Given the description of an element on the screen output the (x, y) to click on. 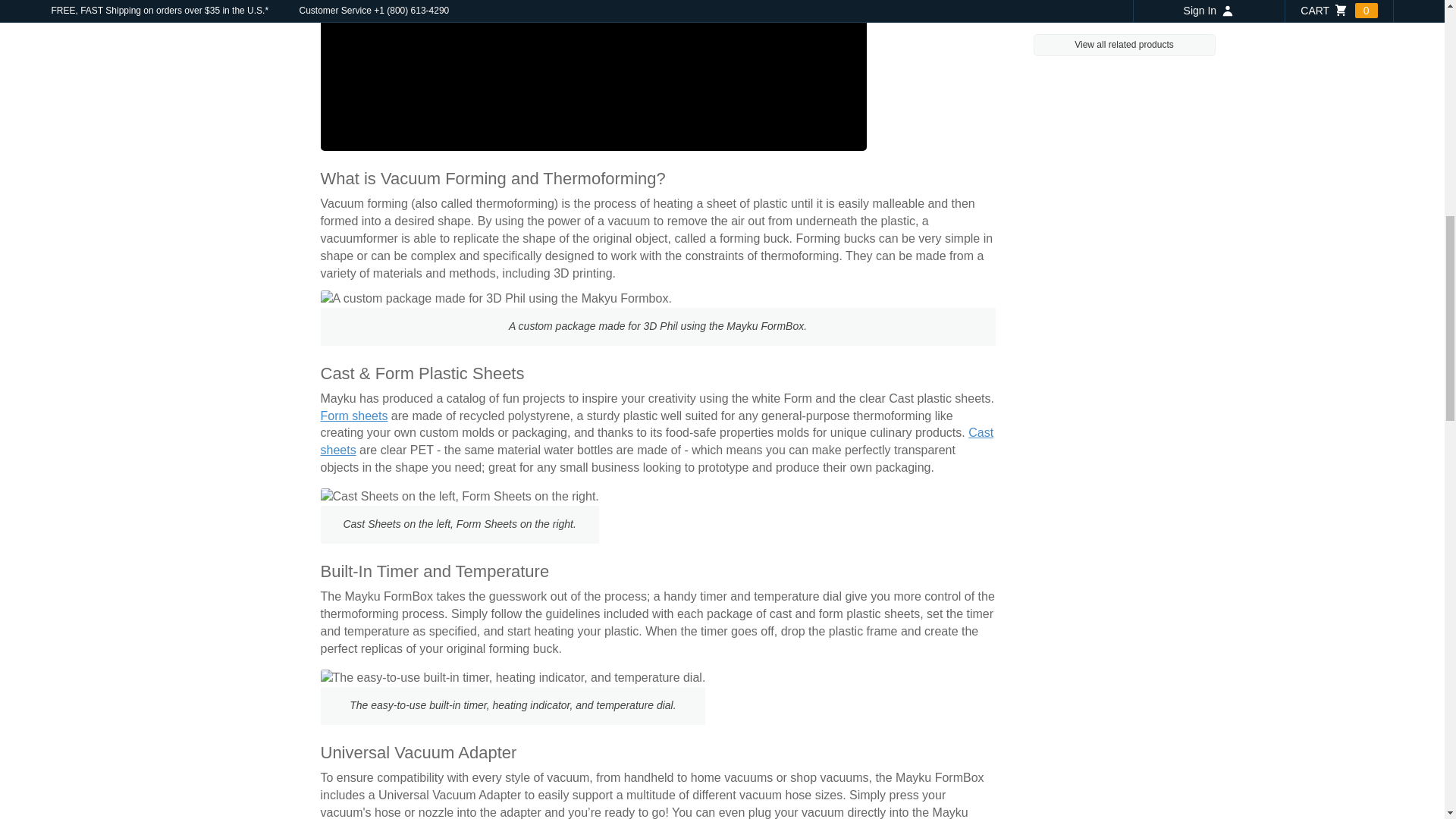
A custom package made for 3D Phil using the Makyu Formbox. (495, 298)
Cast Sheets on the left, Form Sheets on the right. (459, 497)
